Given the description of an element on the screen output the (x, y) to click on. 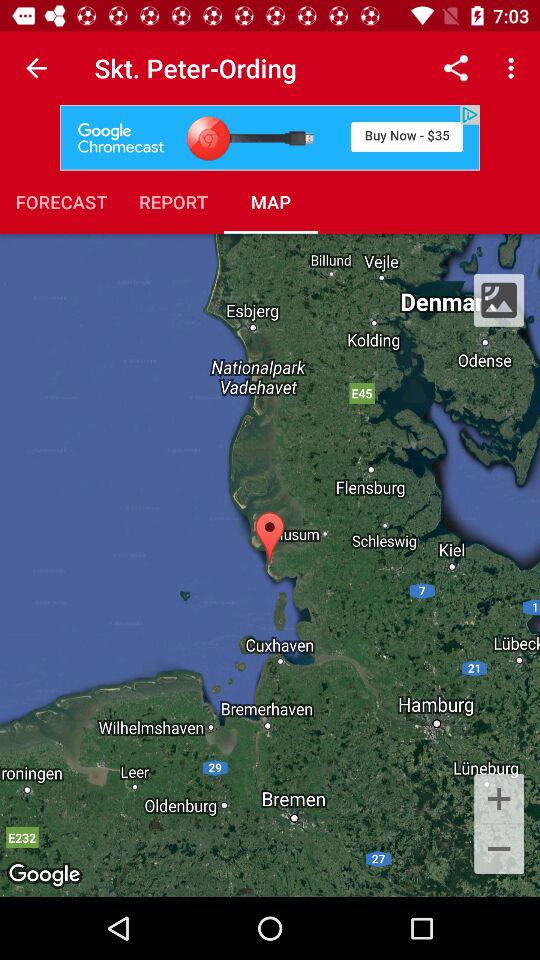
tap the icon below the forecast item (270, 564)
